Given the description of an element on the screen output the (x, y) to click on. 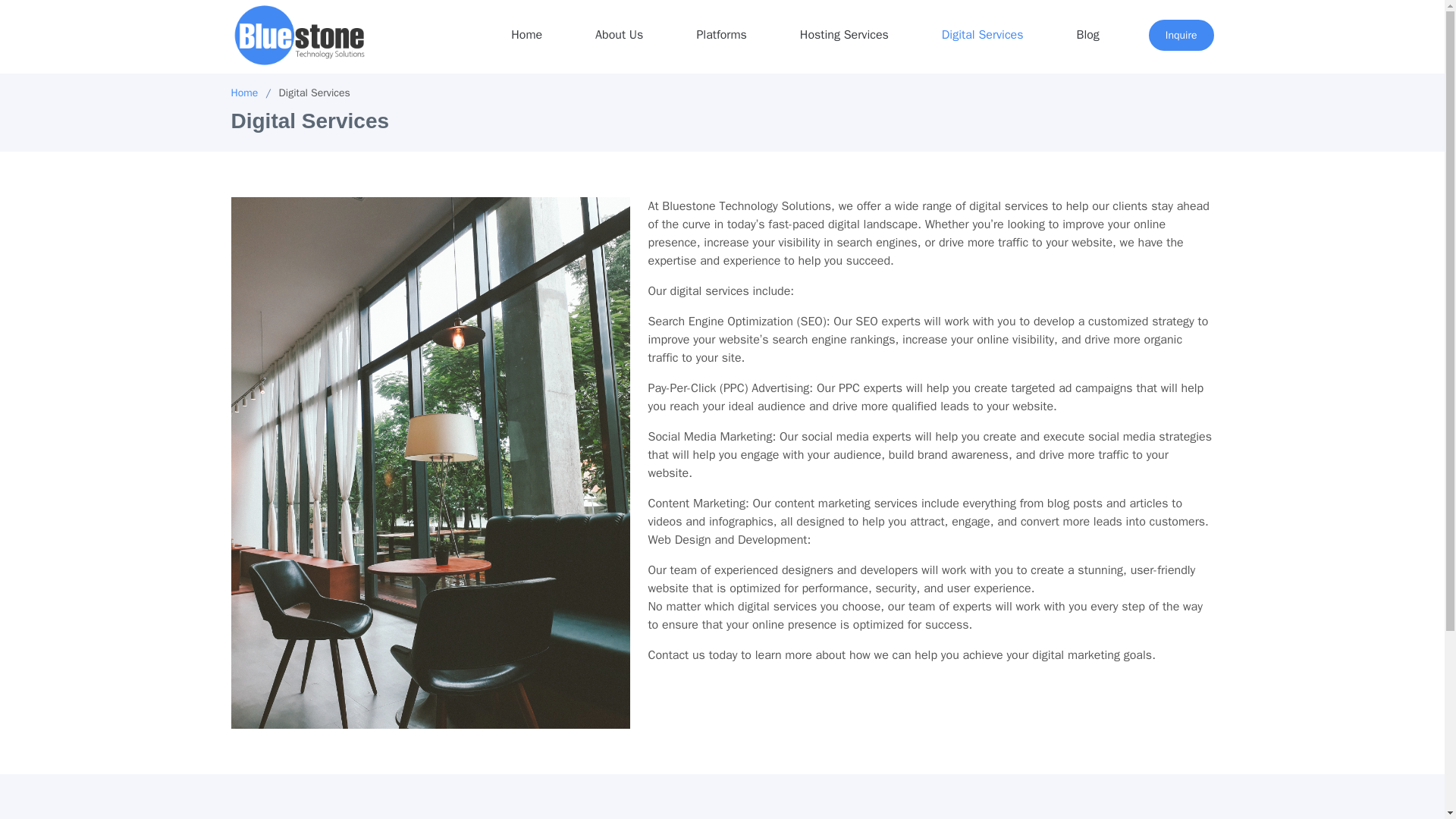
Home (243, 92)
Hosting Services (844, 34)
About Us (619, 34)
Digital Services (982, 34)
Blog (1087, 34)
Platforms (721, 34)
Inquire (1181, 34)
Home (526, 34)
Inquire (1181, 34)
